Given the description of an element on the screen output the (x, y) to click on. 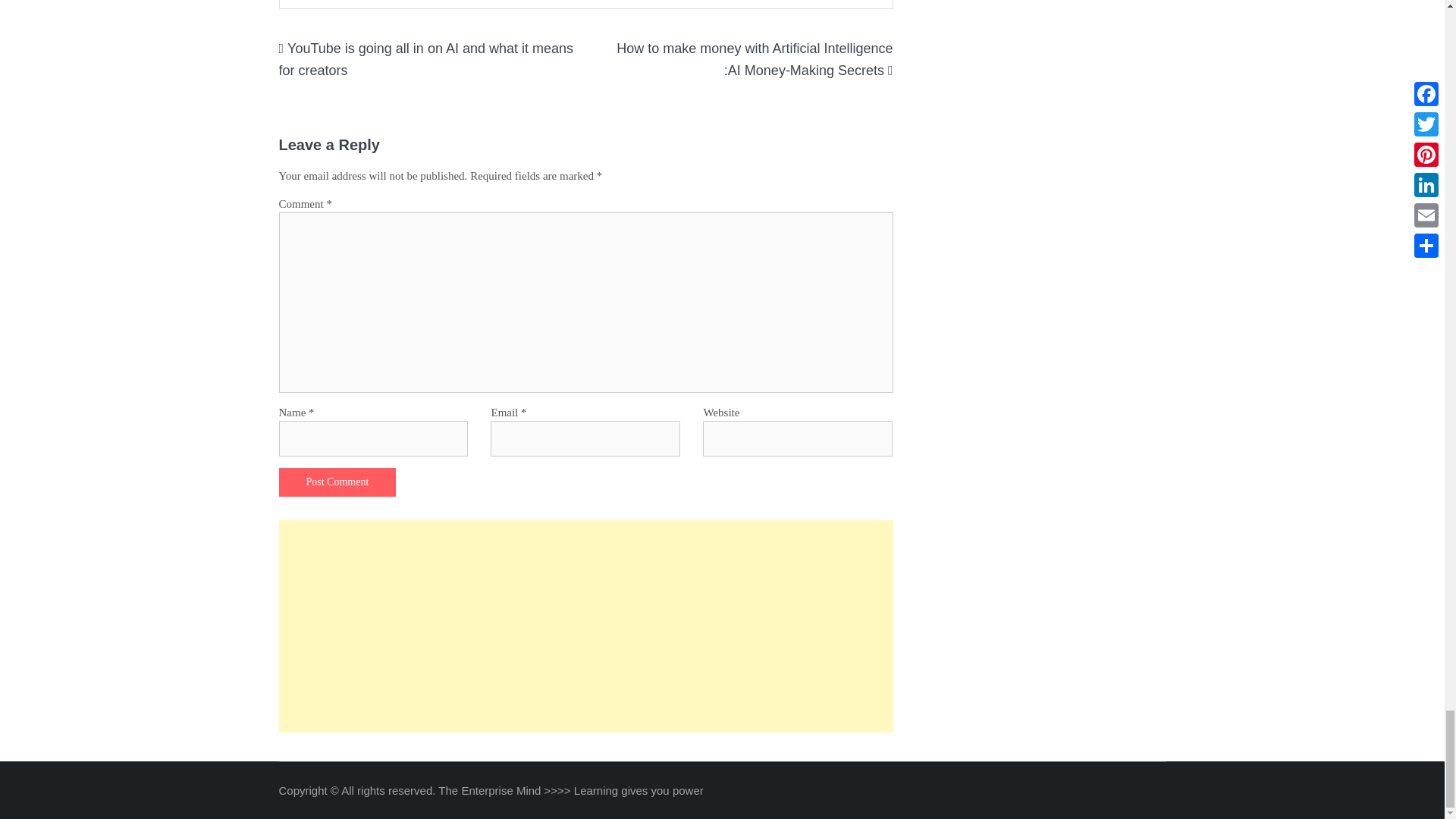
Post Comment (337, 481)
